Given the description of an element on the screen output the (x, y) to click on. 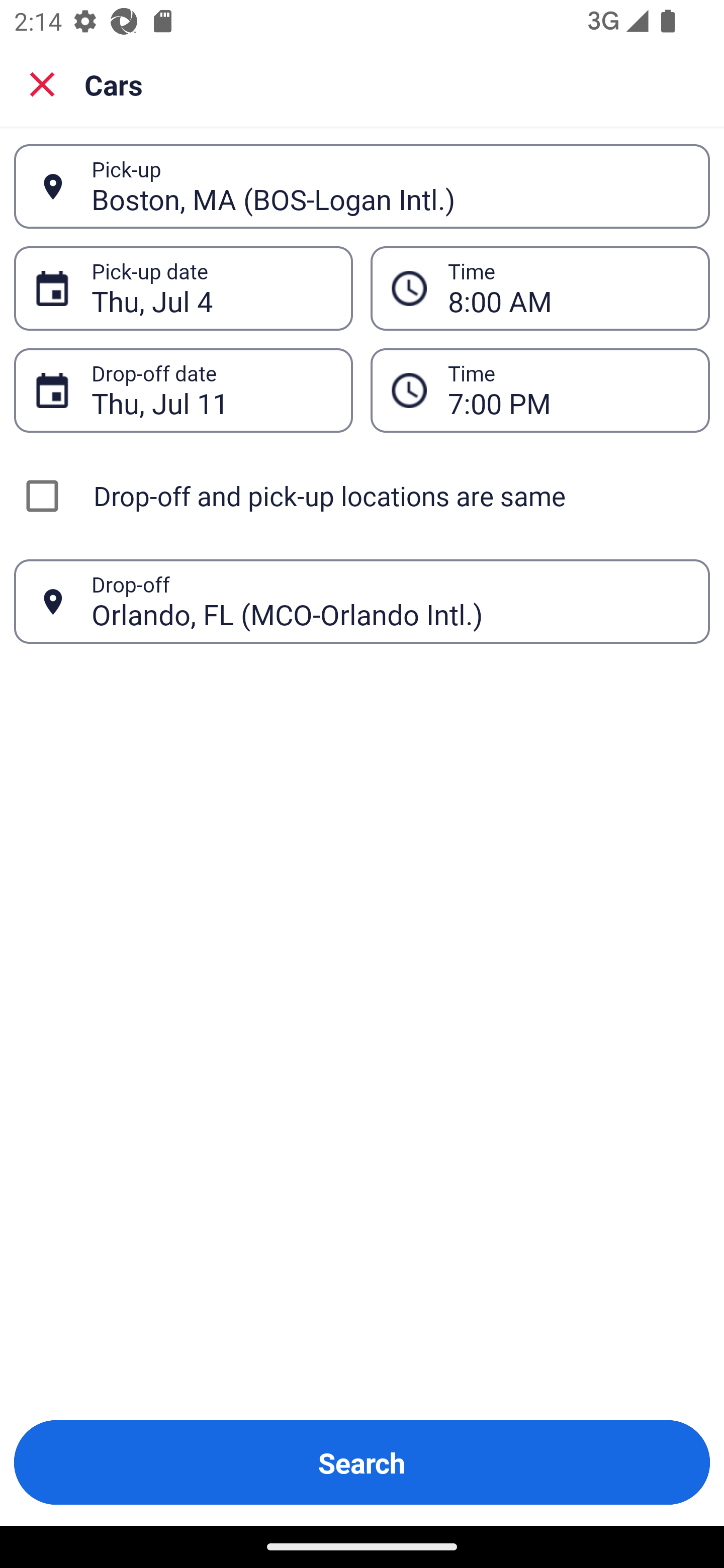
Close search screen (41, 83)
Boston, MA (BOS-Logan Intl.) Pick-up (361, 186)
Boston, MA (BOS-Logan Intl.) (389, 186)
Thu, Jul 4 Pick-up date (183, 288)
8:00 AM (540, 288)
Thu, Jul 4 (211, 288)
8:00 AM (568, 288)
Thu, Jul 11 Drop-off date (183, 390)
7:00 PM (540, 390)
Thu, Jul 11 (211, 390)
7:00 PM (568, 390)
Drop-off and pick-up locations are same (361, 495)
Orlando, FL (MCO-Orlando Intl.) Drop-off (361, 601)
Orlando, FL (MCO-Orlando Intl.) (389, 601)
Search Button Search (361, 1462)
